Given the description of an element on the screen output the (x, y) to click on. 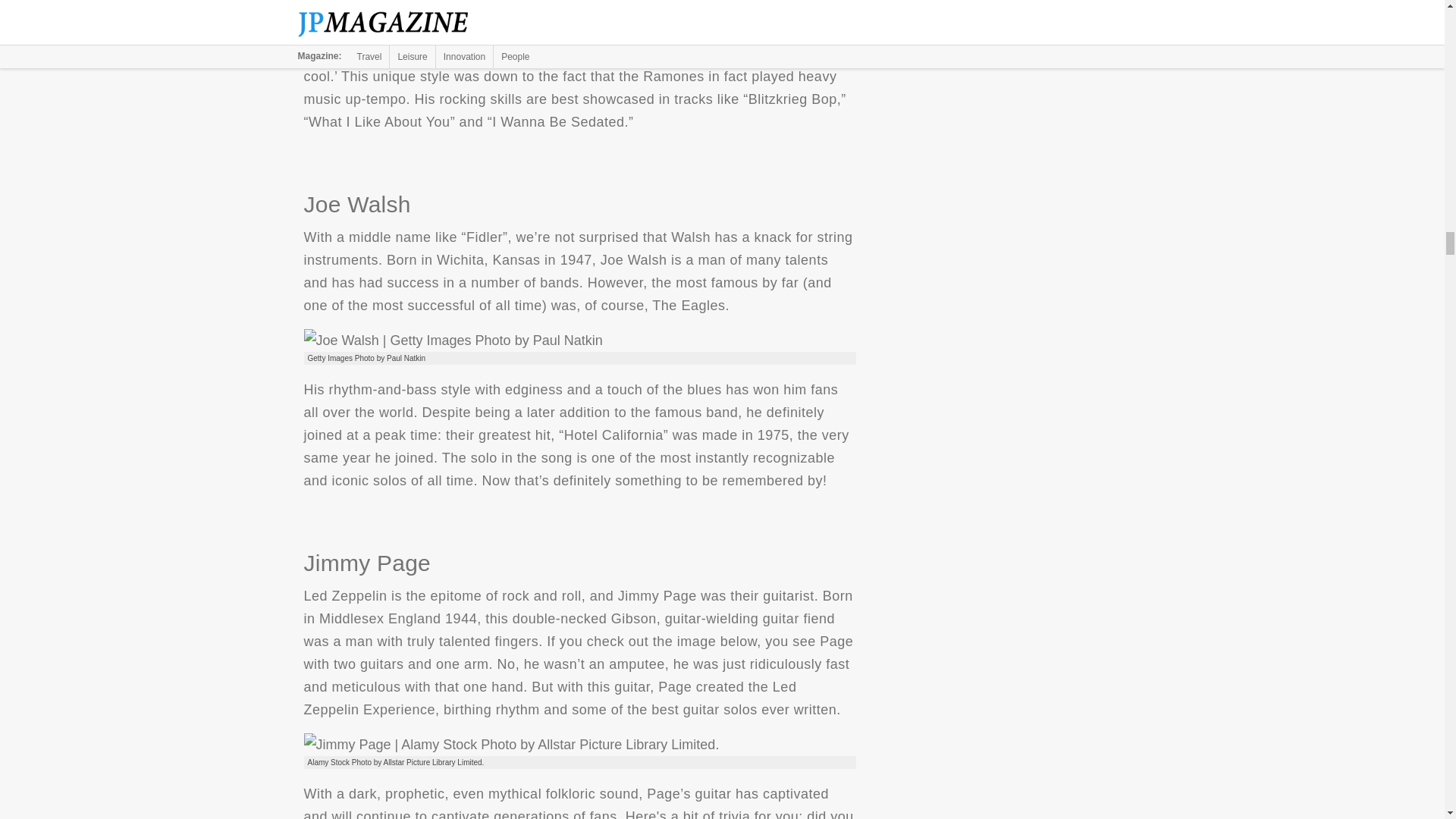
Jimmy Page (510, 744)
Joe Walsh (452, 340)
